Given the description of an element on the screen output the (x, y) to click on. 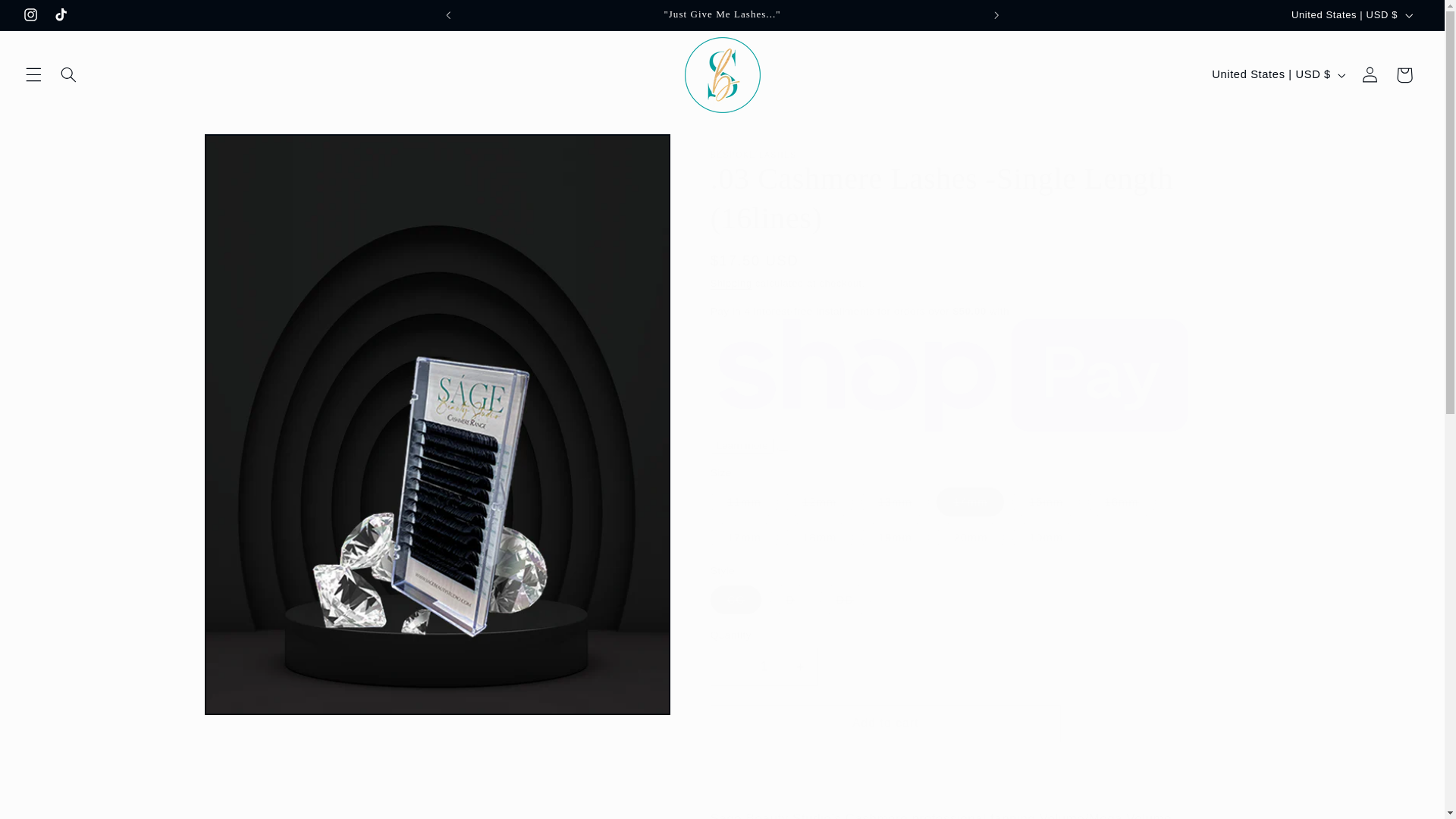
Instagram (31, 15)
Log in (1369, 74)
TikTok (61, 15)
Cart (1404, 74)
